Given the description of an element on the screen output the (x, y) to click on. 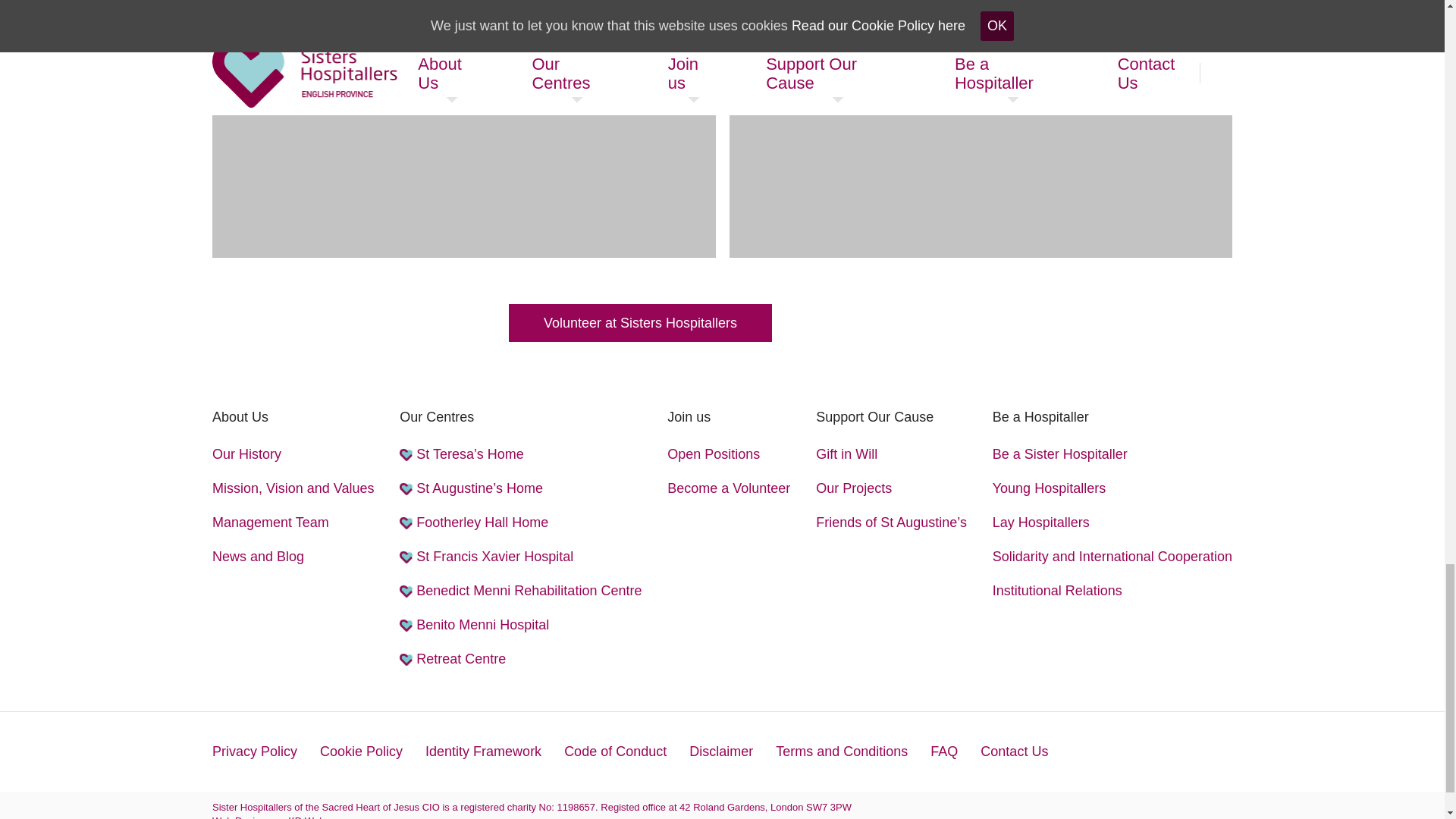
Management Team (270, 522)
Mission, Vision and Values (292, 488)
About Us (240, 416)
News and Blog (258, 556)
Our History (246, 454)
Volunteer at Sisters Hospitallers (639, 322)
